Given the description of an element on the screen output the (x, y) to click on. 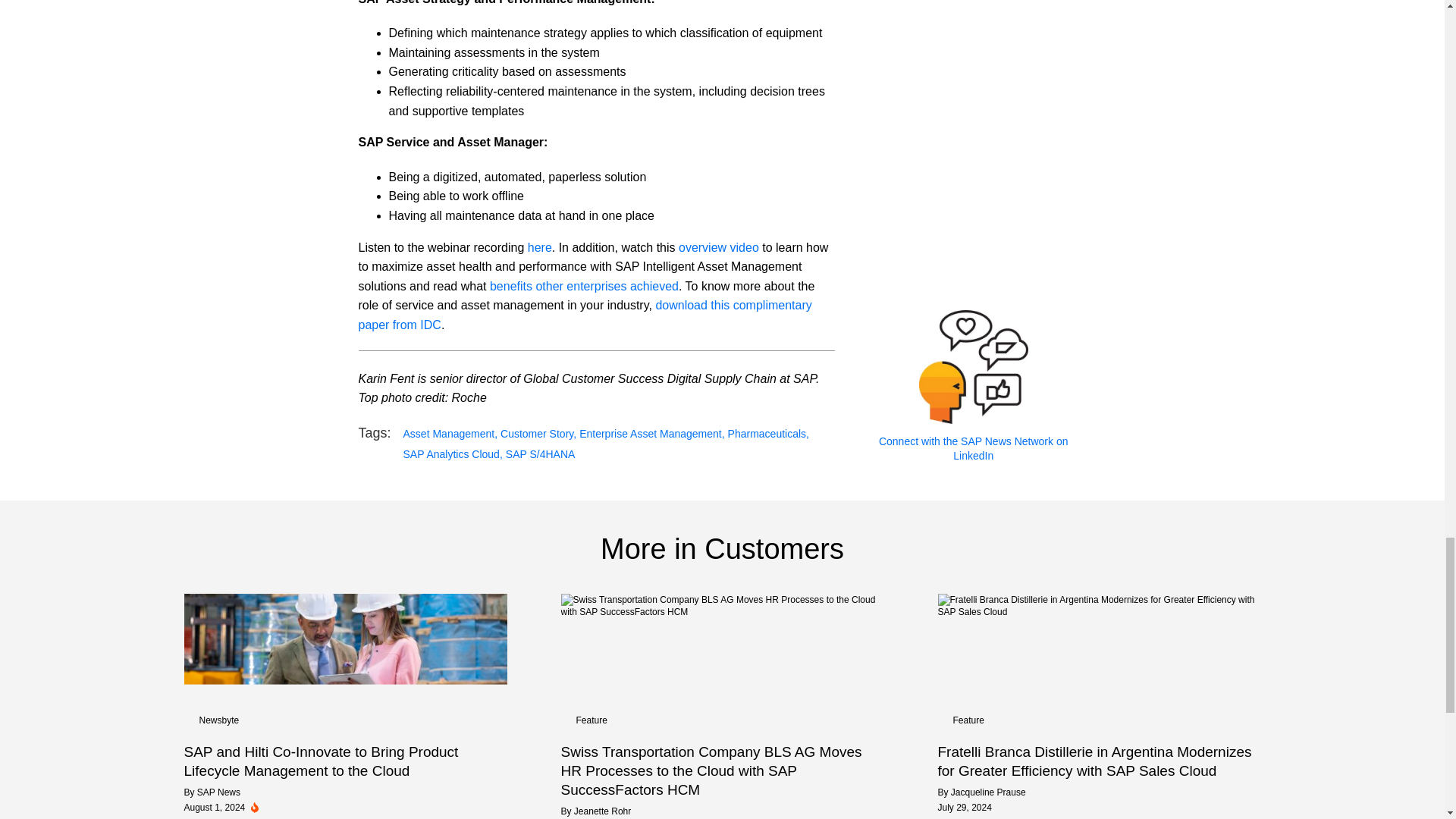
Newsbyte (218, 719)
Feature (968, 719)
Posts by Jacqueline Prause (988, 792)
Posts by Jeanette Rohr (601, 810)
Customer Story (538, 434)
SAP News (218, 792)
Enterprise Asset Management (651, 434)
Connect with the SAP News Network on LinkedIn (973, 448)
Jacqueline Prause (988, 792)
overview video (718, 246)
Jeanette Rohr (601, 810)
benefits other enterprises achieved (583, 286)
Asset Management (450, 434)
